Given the description of an element on the screen output the (x, y) to click on. 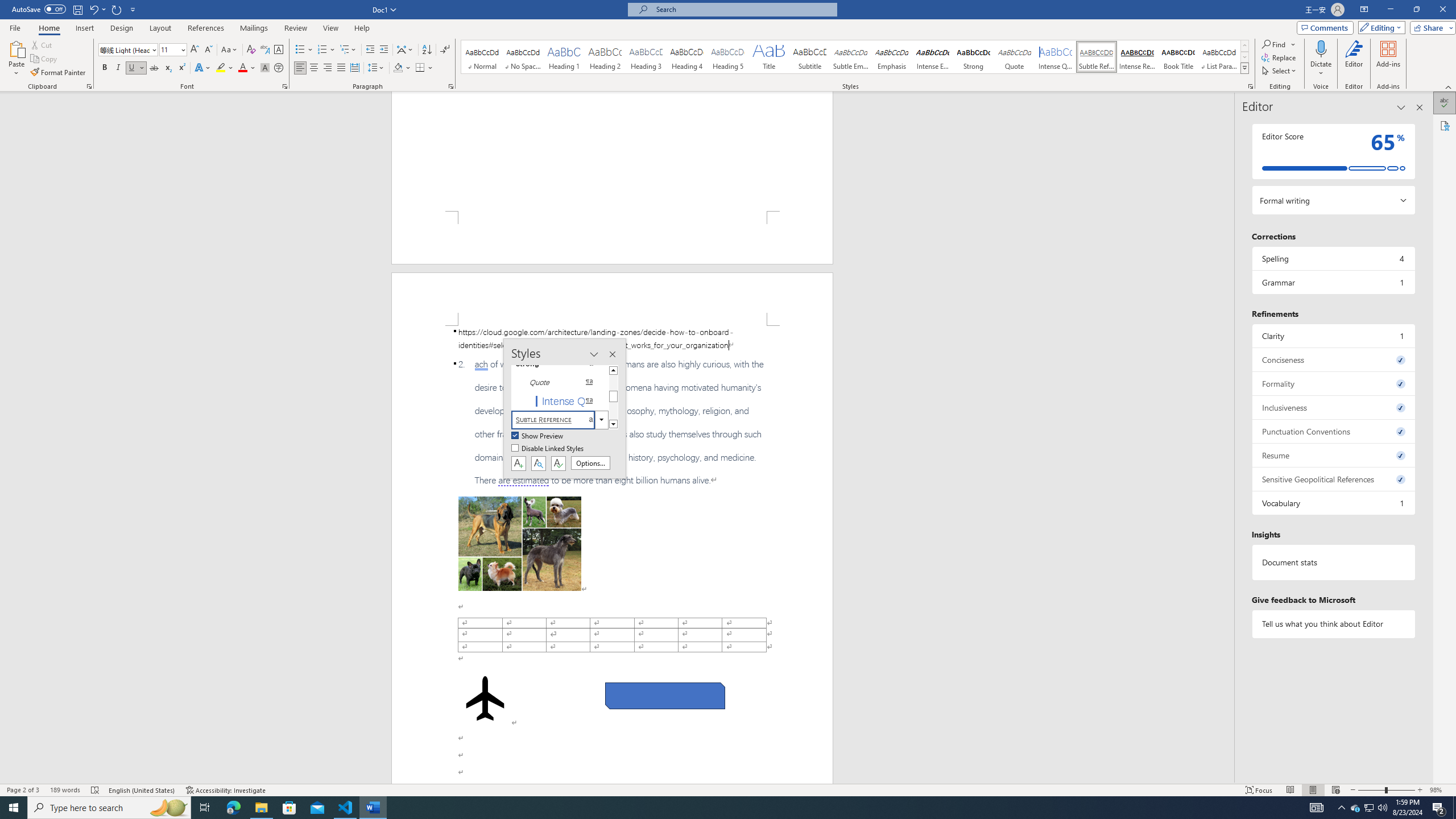
Superscript (180, 67)
Row Down (1244, 56)
Grammar, 1 issue. Press space or enter to review items. (1333, 282)
Heading 5 (727, 56)
Morphological variation in six dogs (519, 543)
Bold (104, 67)
Heading 4 (686, 56)
